Given the description of an element on the screen output the (x, y) to click on. 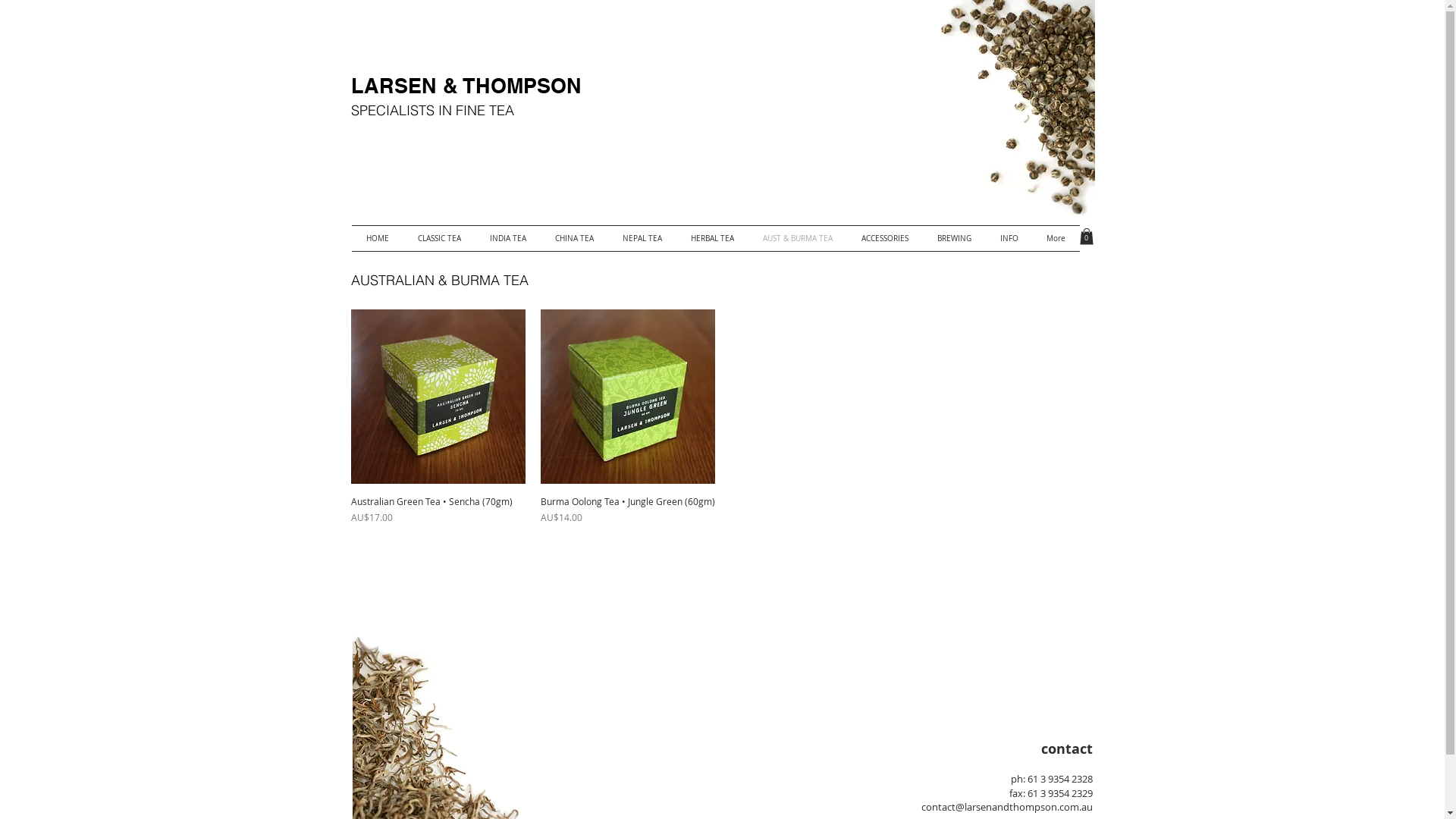
INDIA TEA Element type: text (506, 238)
ACCESSORIES Element type: text (884, 238)
AUSTRALIAN & BURMA TEA Element type: text (438, 279)
NEPAL TEA Element type: text (642, 238)
INFO Element type: text (1008, 238)
SPECIALISTS IN FINE TEA Element type: text (431, 110)
LARSEN & THOMPSON Element type: text (465, 85)
HERBAL TEA Element type: text (712, 238)
AUST & BURMA TEA Element type: text (796, 238)
HOME Element type: text (377, 238)
0 Element type: text (1086, 236)
CLASSIC TEA Element type: text (439, 238)
CHINA TEA Element type: text (573, 238)
BREWING Element type: text (953, 238)
